Given the description of an element on the screen output the (x, y) to click on. 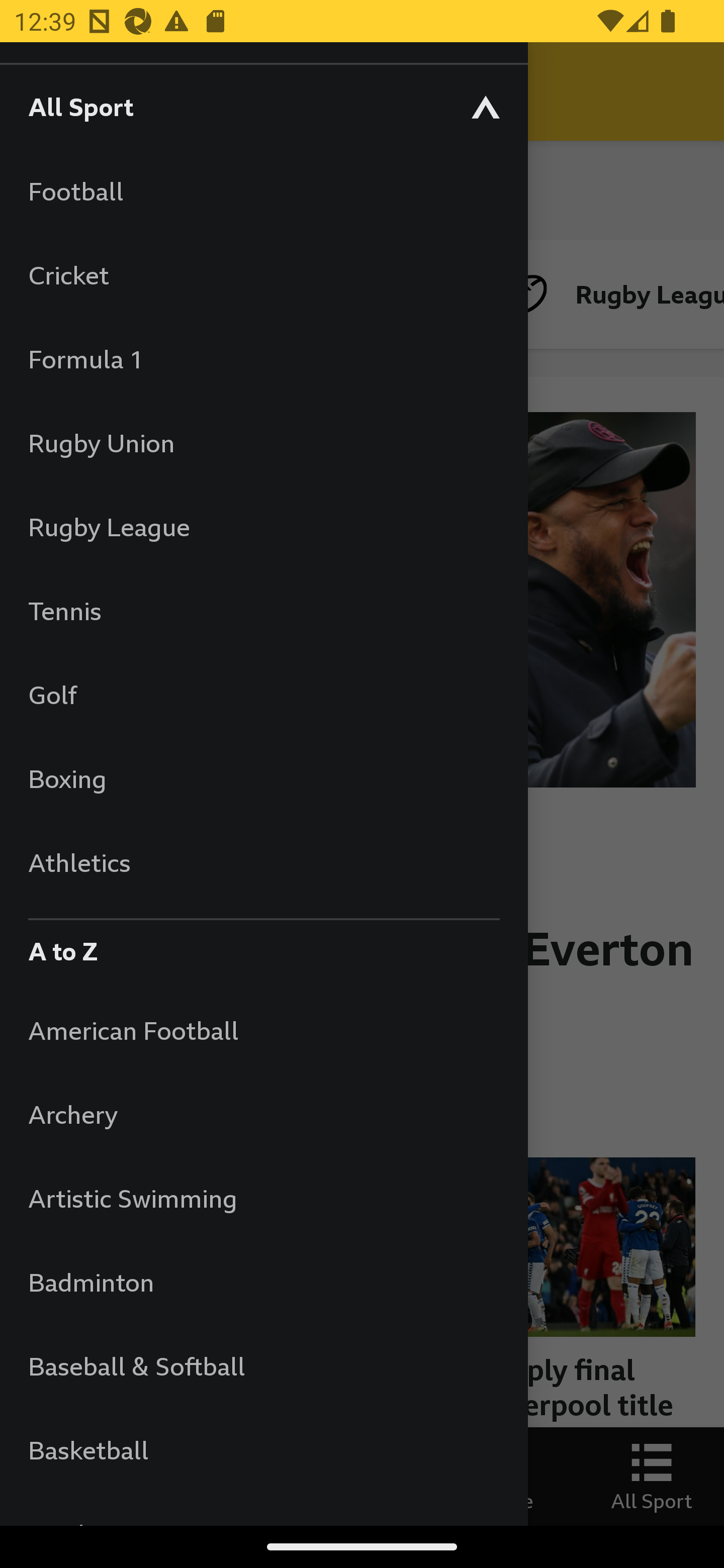
All Sport (263, 105)
Football (263, 190)
Cricket (263, 274)
Formula 1 (263, 358)
Rugby Union (263, 441)
Rugby League (263, 526)
Tennis (263, 609)
Golf (263, 694)
Boxing (263, 778)
Athletics (263, 862)
A to Z (263, 945)
American Football (263, 1029)
Archery (263, 1114)
Artistic Swimming (263, 1197)
Badminton (263, 1282)
Baseball & Softball (263, 1365)
Basketball (263, 1450)
